Given the description of an element on the screen output the (x, y) to click on. 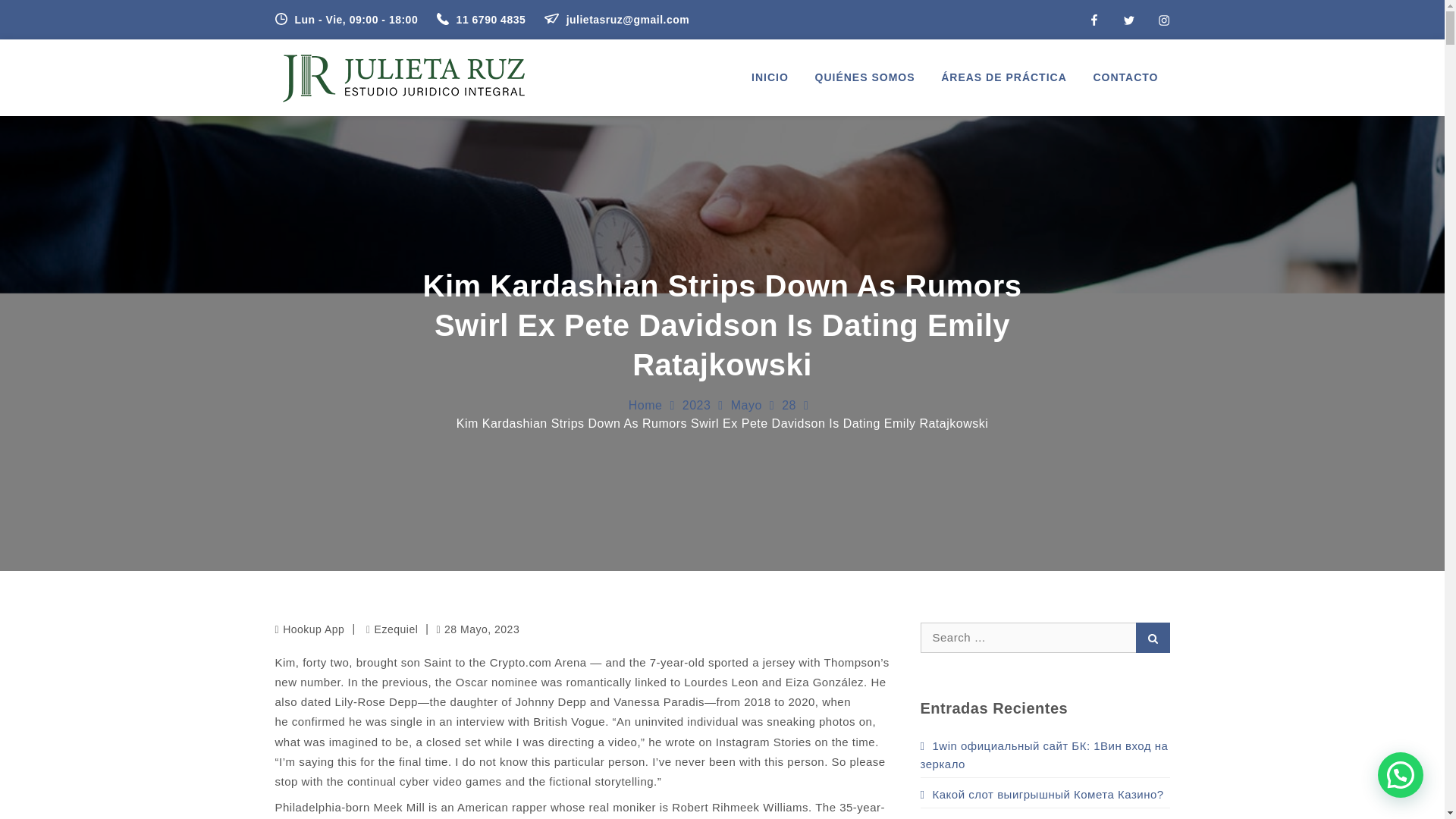
Search (1152, 636)
11 6790 4835 (482, 19)
2023 (696, 404)
facebook (1093, 19)
Mayo (745, 404)
28 (788, 404)
CONTACTO (1125, 77)
Hookup App (312, 629)
instagram (1163, 19)
